Given the description of an element on the screen output the (x, y) to click on. 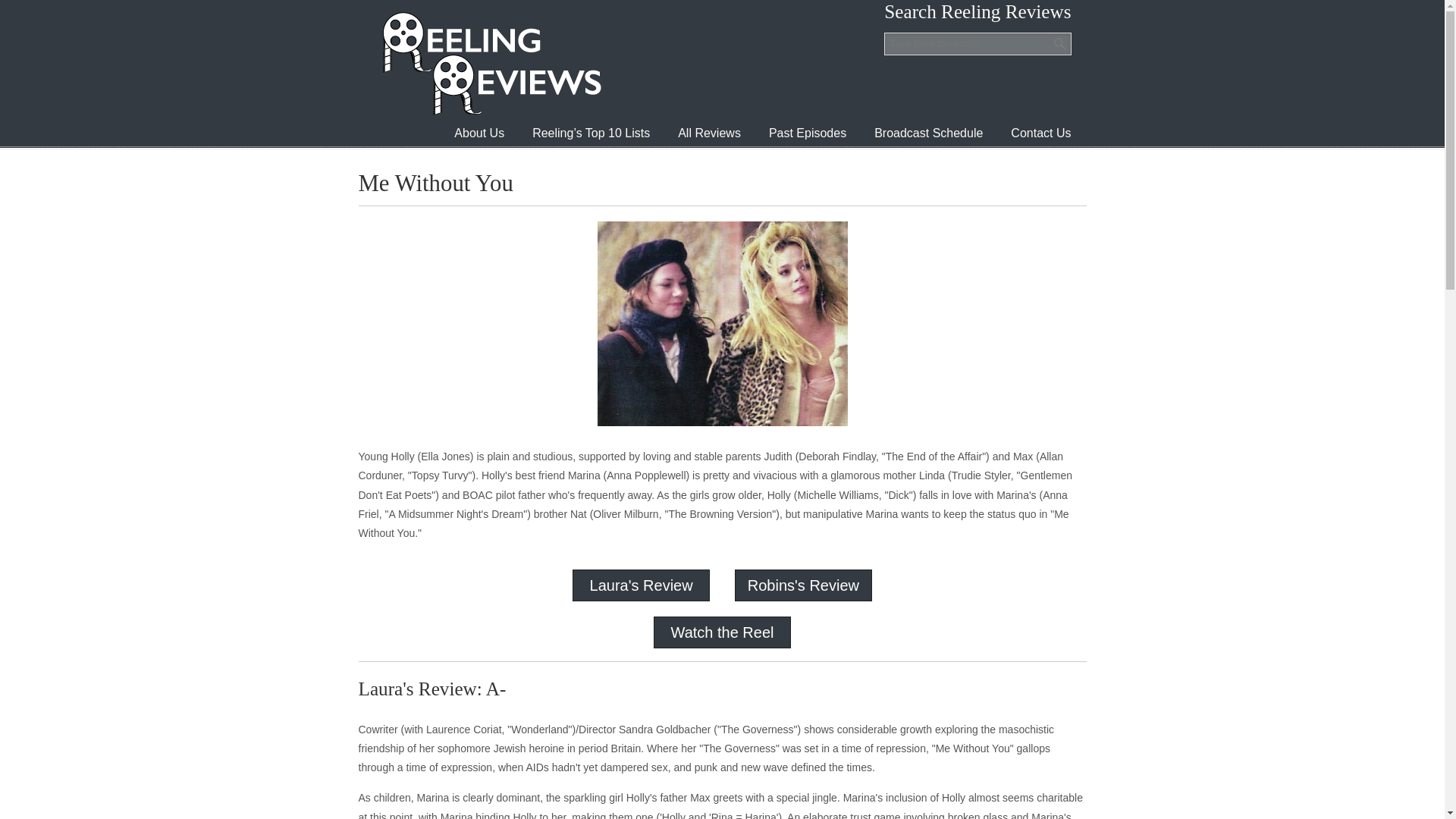
Broadcast Schedule (928, 133)
Contact Us (1040, 133)
Reeling Reviews (489, 63)
Laura's Review (641, 585)
Watch the Reel (721, 632)
Robins's Review (803, 585)
About Us (479, 133)
Past Episodes (807, 133)
All Reviews (708, 133)
Reeling Reviews (489, 63)
